Given the description of an element on the screen output the (x, y) to click on. 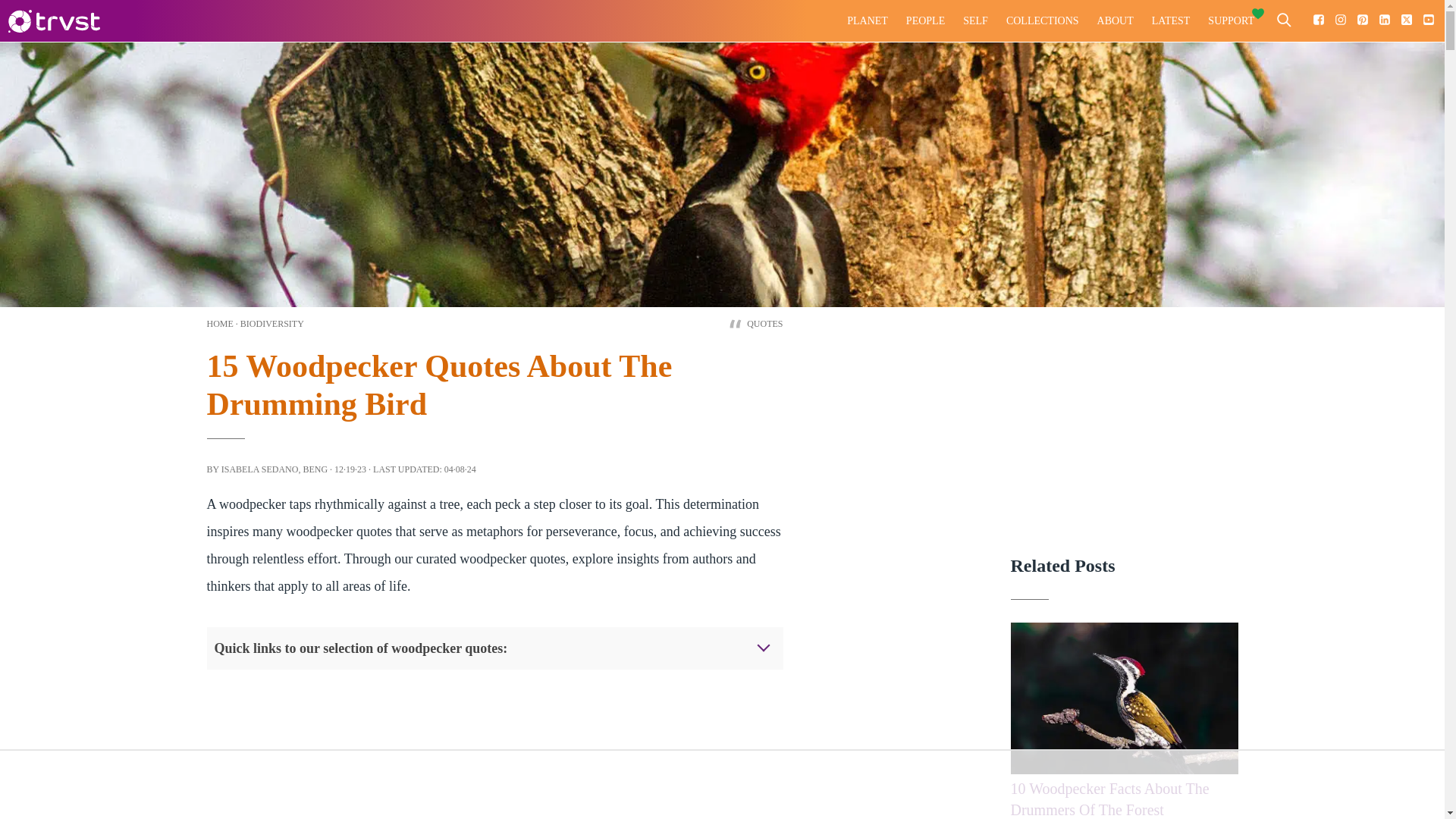
ABOUT (1114, 20)
SELF (975, 20)
PEOPLE (924, 20)
COLLECTIONS (1042, 20)
PLANET (867, 20)
